Given the description of an element on the screen output the (x, y) to click on. 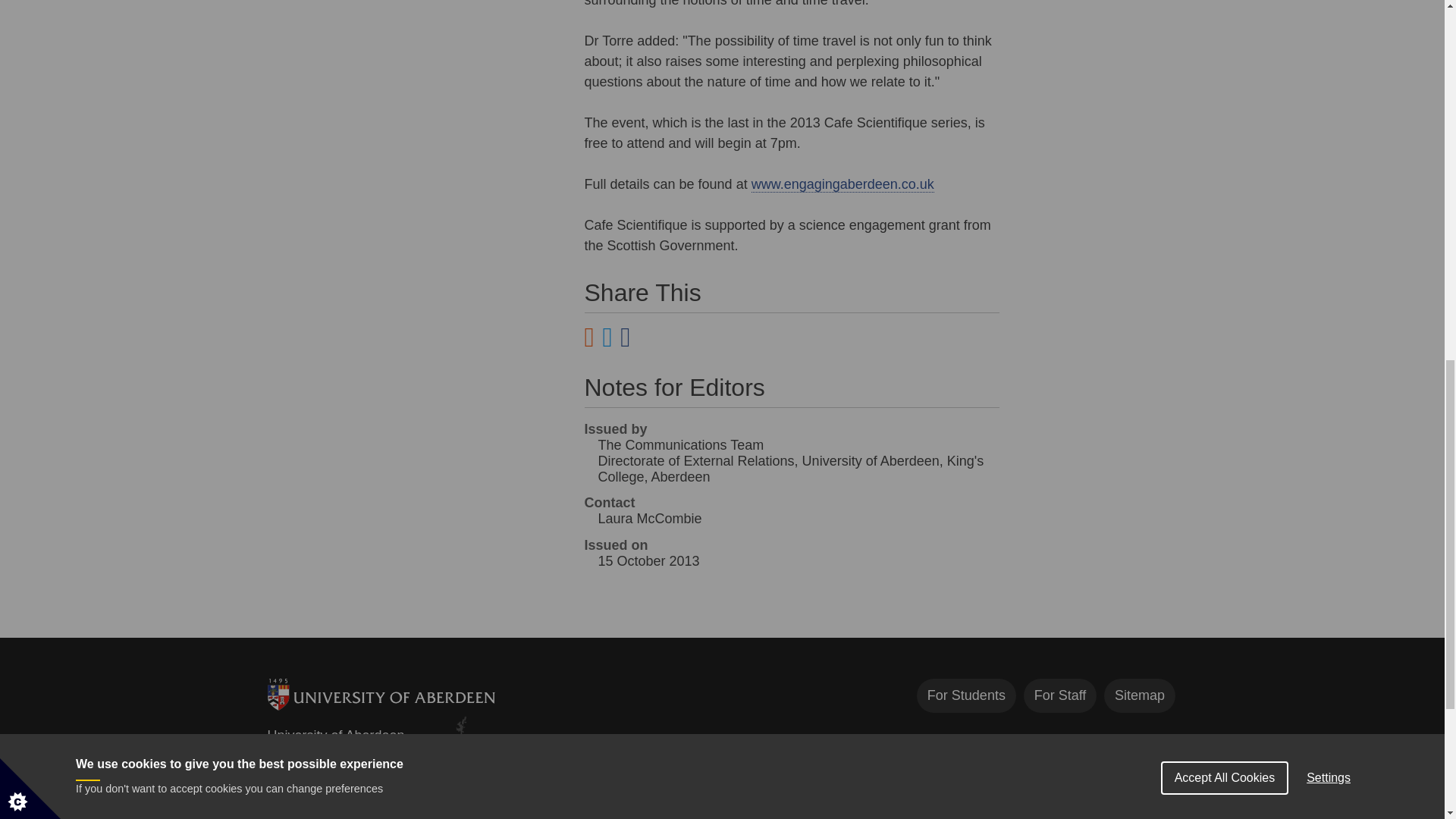
Accept All Cookies (1224, 12)
Settings (1328, 8)
